Given the description of an element on the screen output the (x, y) to click on. 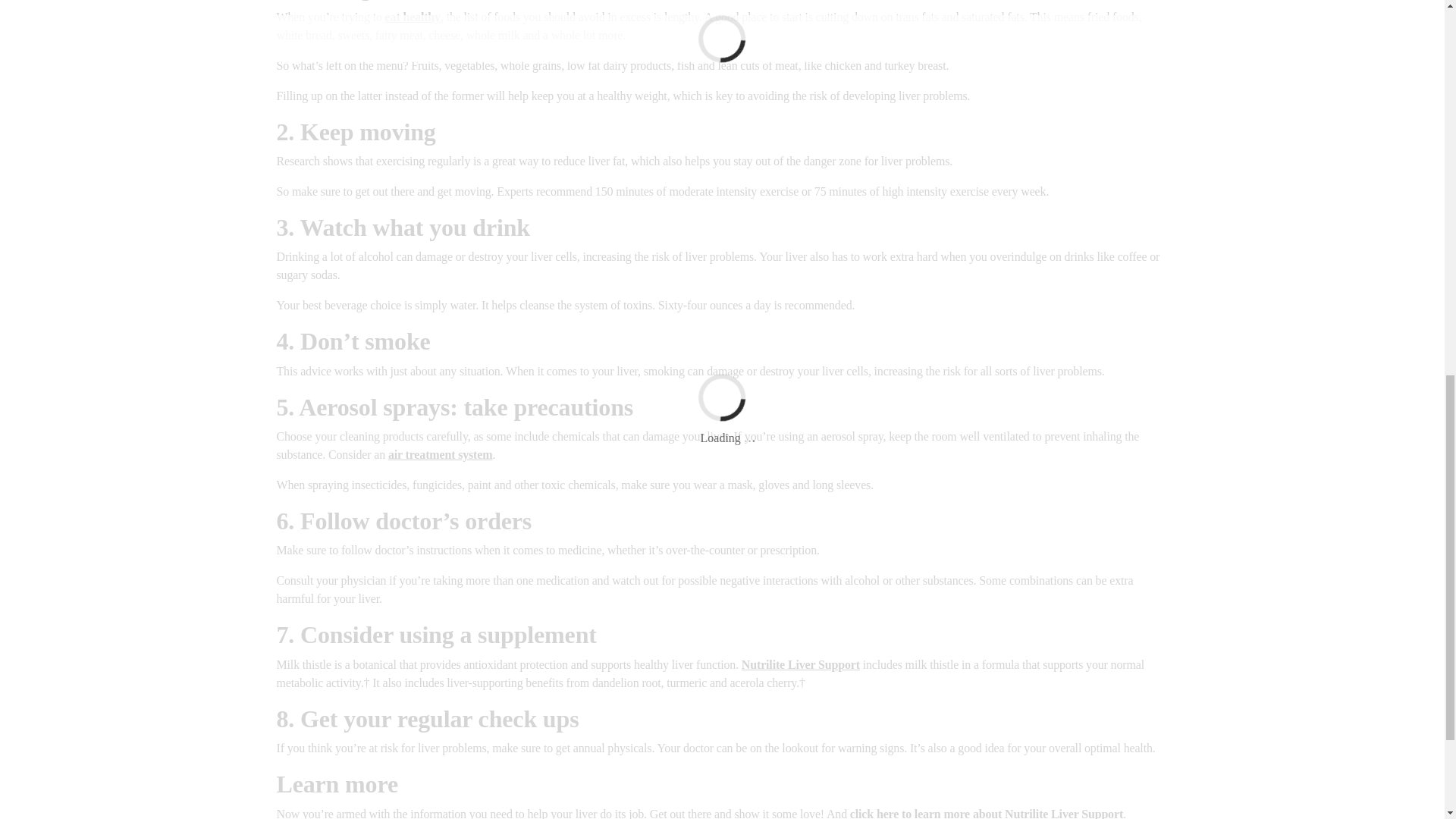
Nutrilite Liver Support (800, 664)
click here to learn more about Nutrilite Liver Support (986, 813)
eat healthy (413, 16)
air treatment system (440, 454)
